Given the description of an element on the screen output the (x, y) to click on. 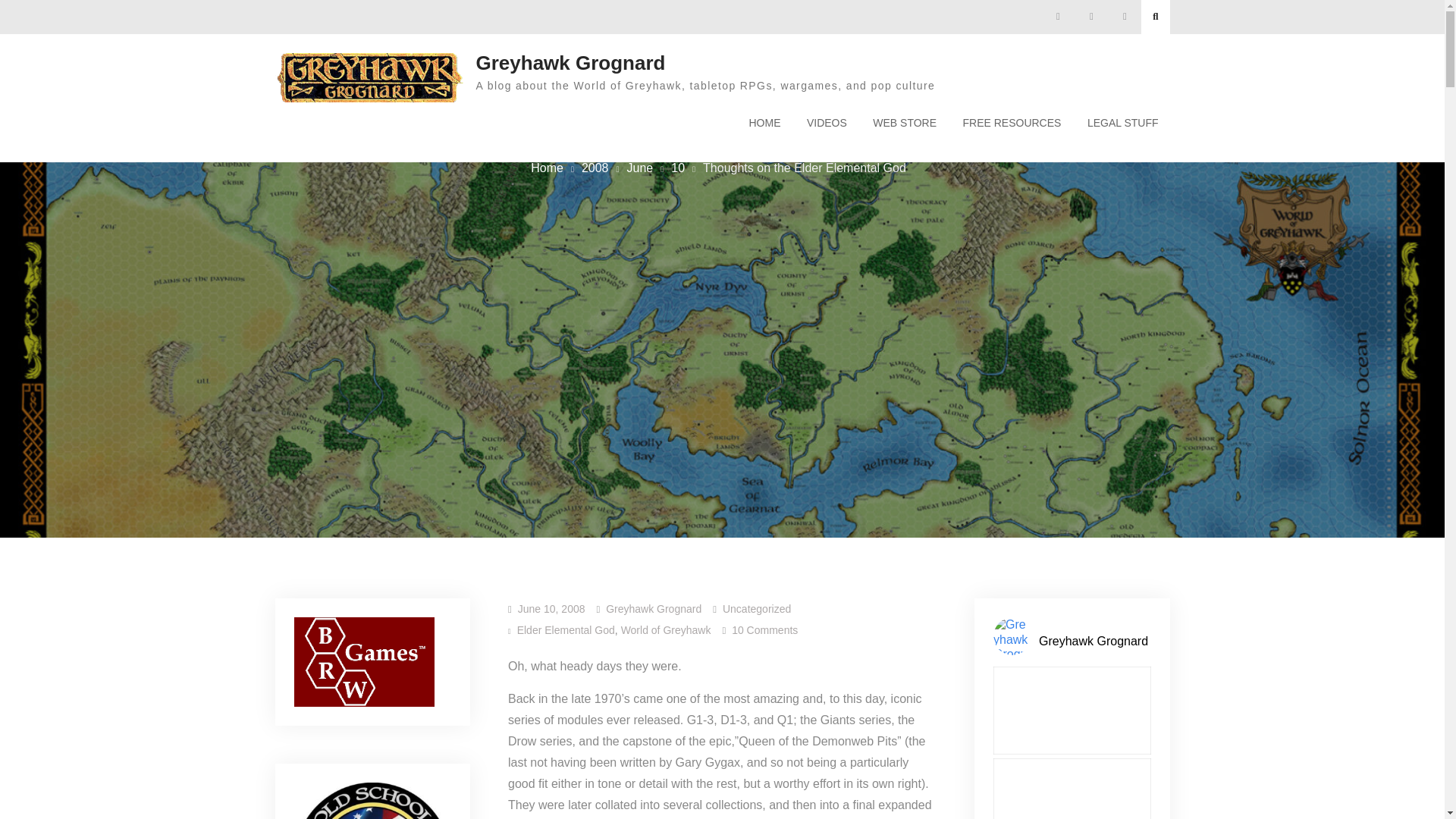
Home (547, 167)
VIDEOS (826, 123)
June 10, 2008 (551, 608)
Elder Elemental God (565, 630)
HOME (764, 123)
Greyhawk Grognard (570, 62)
10 (677, 167)
2008 (594, 167)
June (640, 167)
Uncategorized (756, 608)
FREE RESOURCES (764, 630)
World of Greyhawk (1010, 123)
Greyhawk Grognard (666, 630)
